Given the description of an element on the screen output the (x, y) to click on. 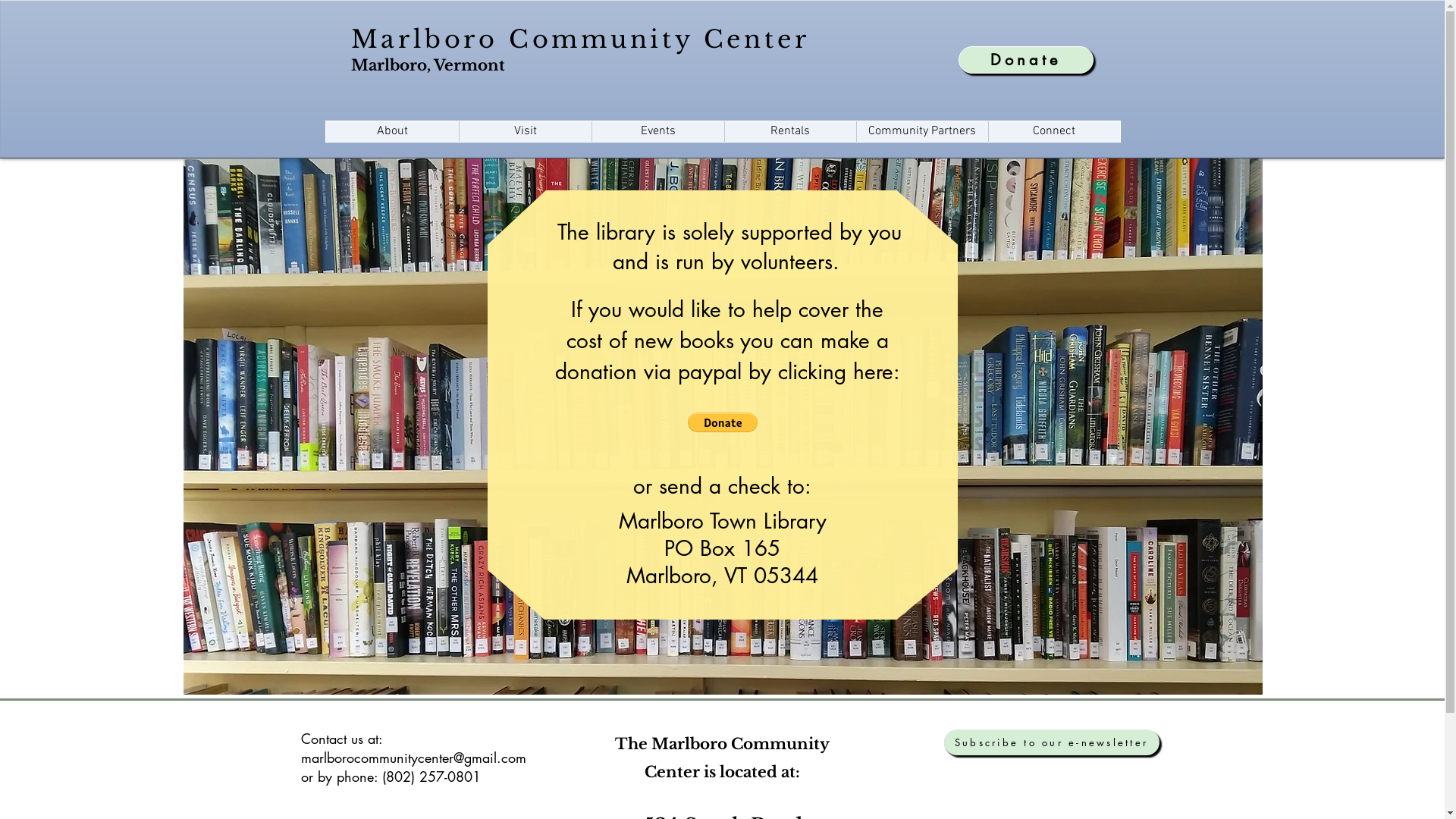
Donate Element type: text (1025, 59)
Subscribe to our e-newsletter Element type: text (1050, 742)
Rentals Element type: text (789, 131)
Marlboro Community Center Element type: text (579, 38)
